Given the description of an element on the screen output the (x, y) to click on. 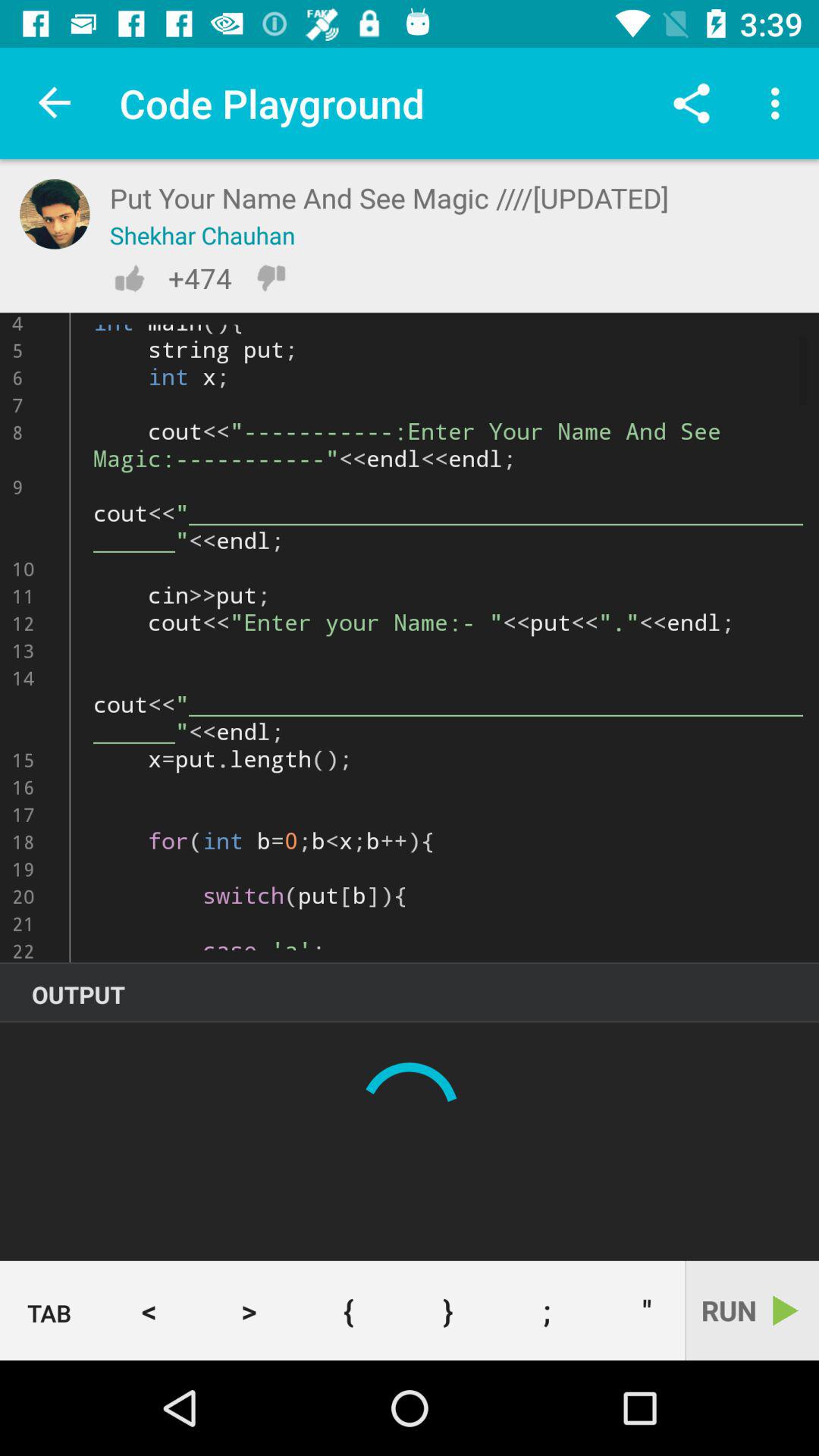
vote up (129, 277)
